Given the description of an element on the screen output the (x, y) to click on. 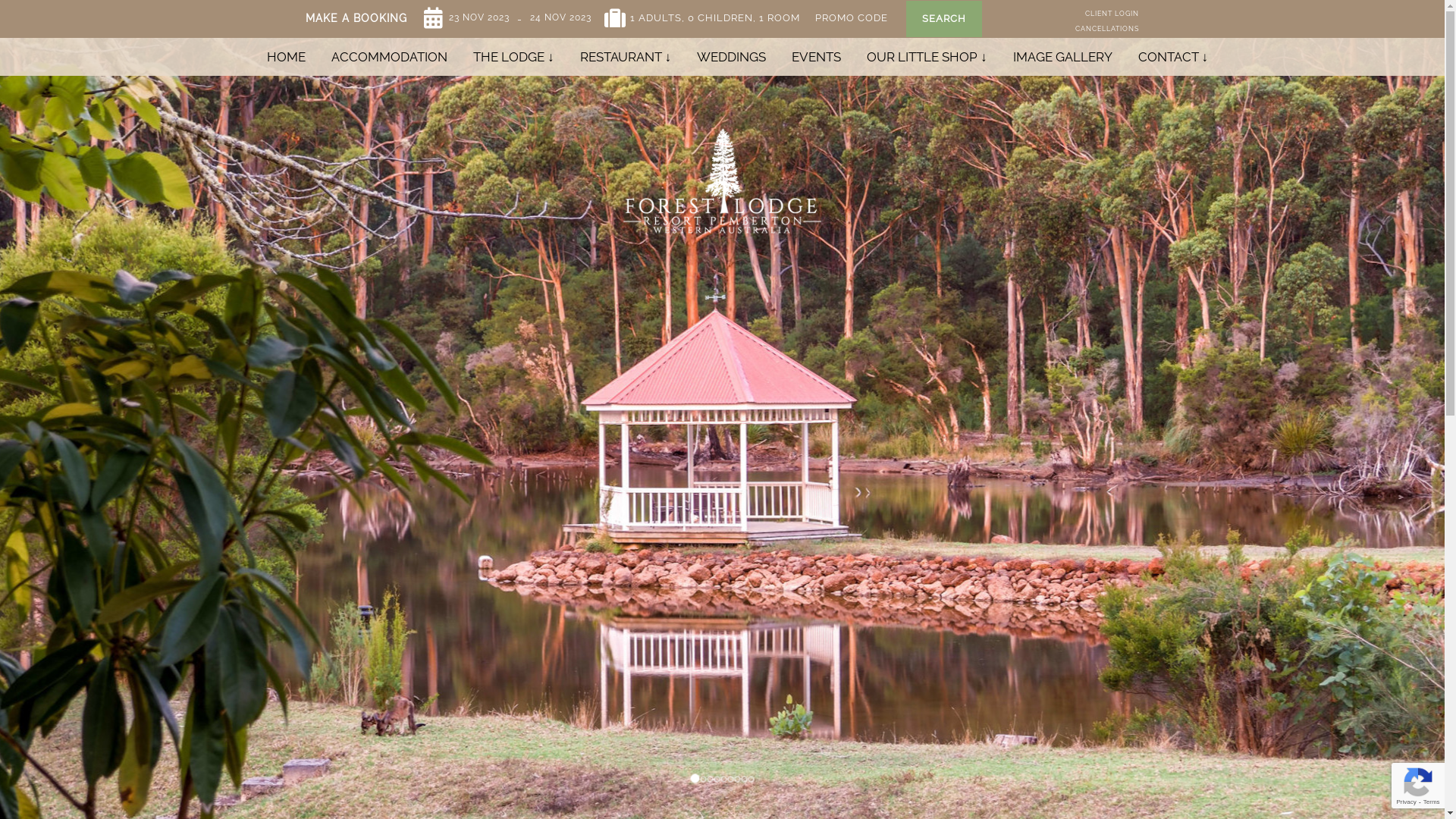
HOME Element type: text (285, 56)
SEARCH Element type: text (944, 18)
THE LODGE Element type: text (513, 56)
CLIENT LOGIN Element type: text (1112, 13)
WEDDINGS Element type: text (731, 56)
CANCELLATIONS Element type: text (1107, 28)
EVENTS Element type: text (816, 56)
ACCOMMODATION Element type: text (389, 56)
CONTACT Element type: text (1173, 56)
RESTAURANT Element type: text (625, 56)
OUR LITTLE SHOP Element type: text (926, 56)
IMAGE GALLERY Element type: text (1062, 56)
